Given the description of an element on the screen output the (x, y) to click on. 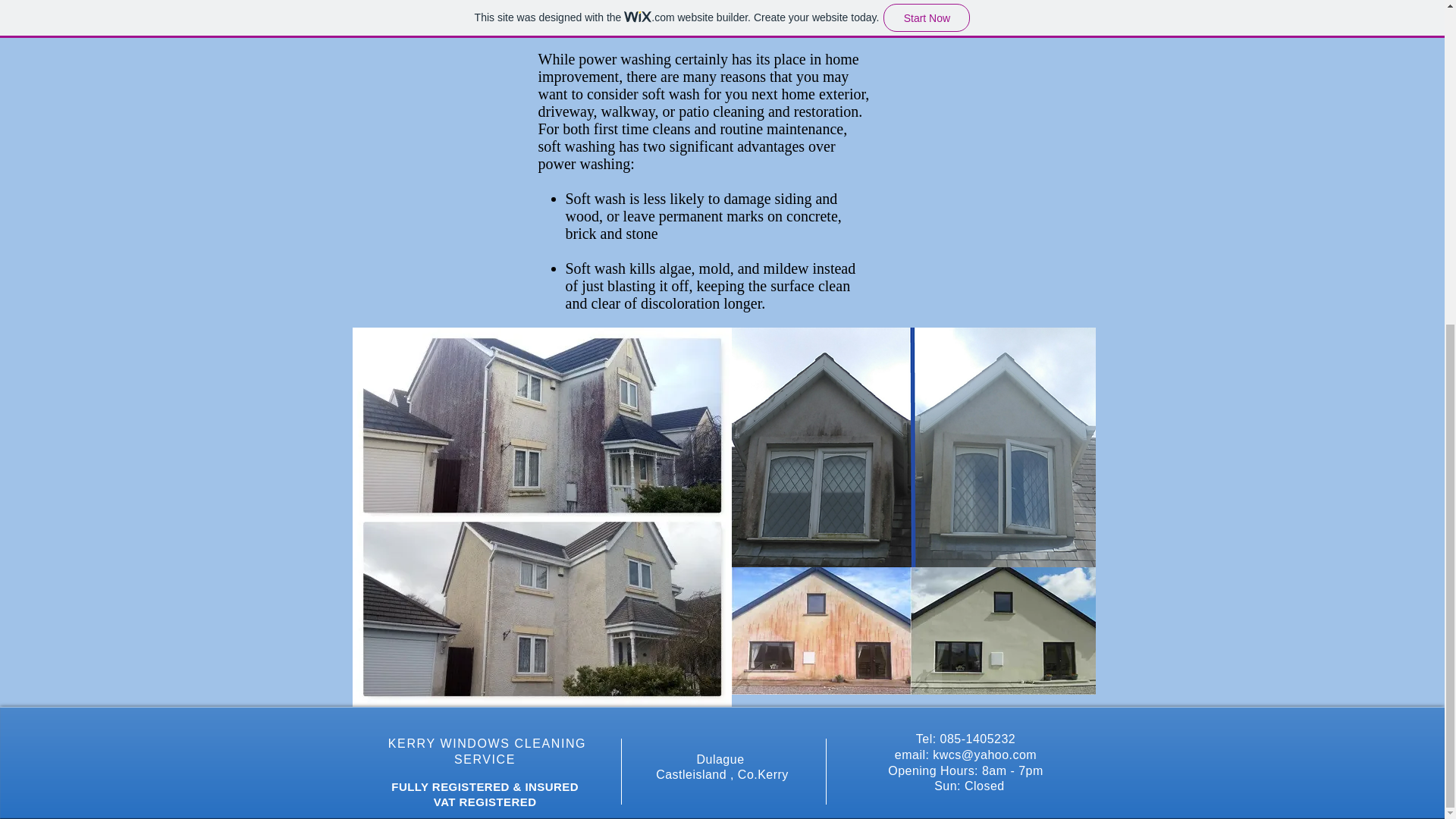
Soft Wash (912, 630)
Soft Wash (912, 447)
